Given the description of an element on the screen output the (x, y) to click on. 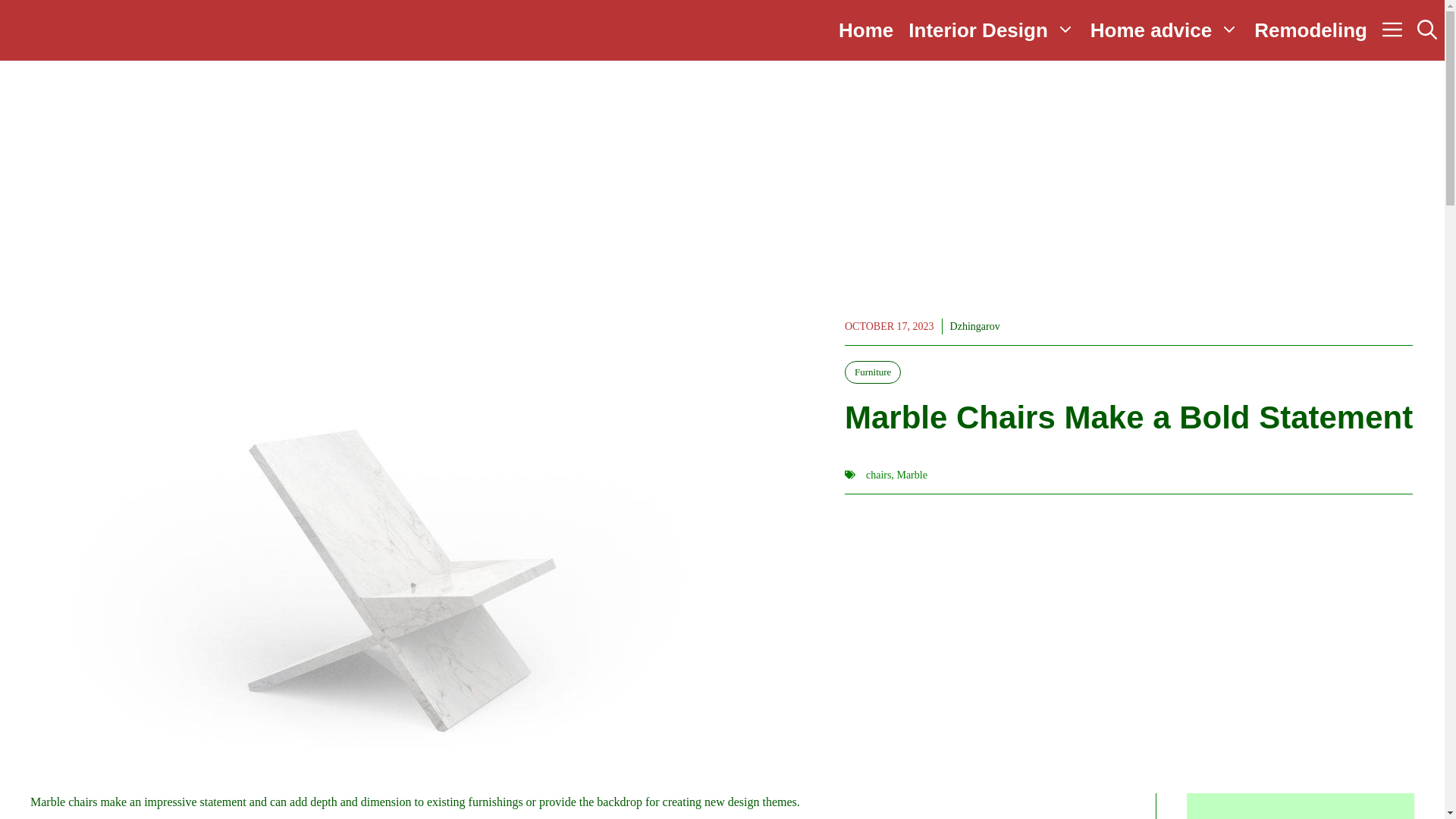
Dzhingarov (975, 326)
Home advice (1164, 30)
Home (866, 30)
Furniture (872, 372)
chairs (878, 474)
Interior Design (991, 30)
Marble (911, 474)
Remodeling (1310, 30)
